Given the description of an element on the screen output the (x, y) to click on. 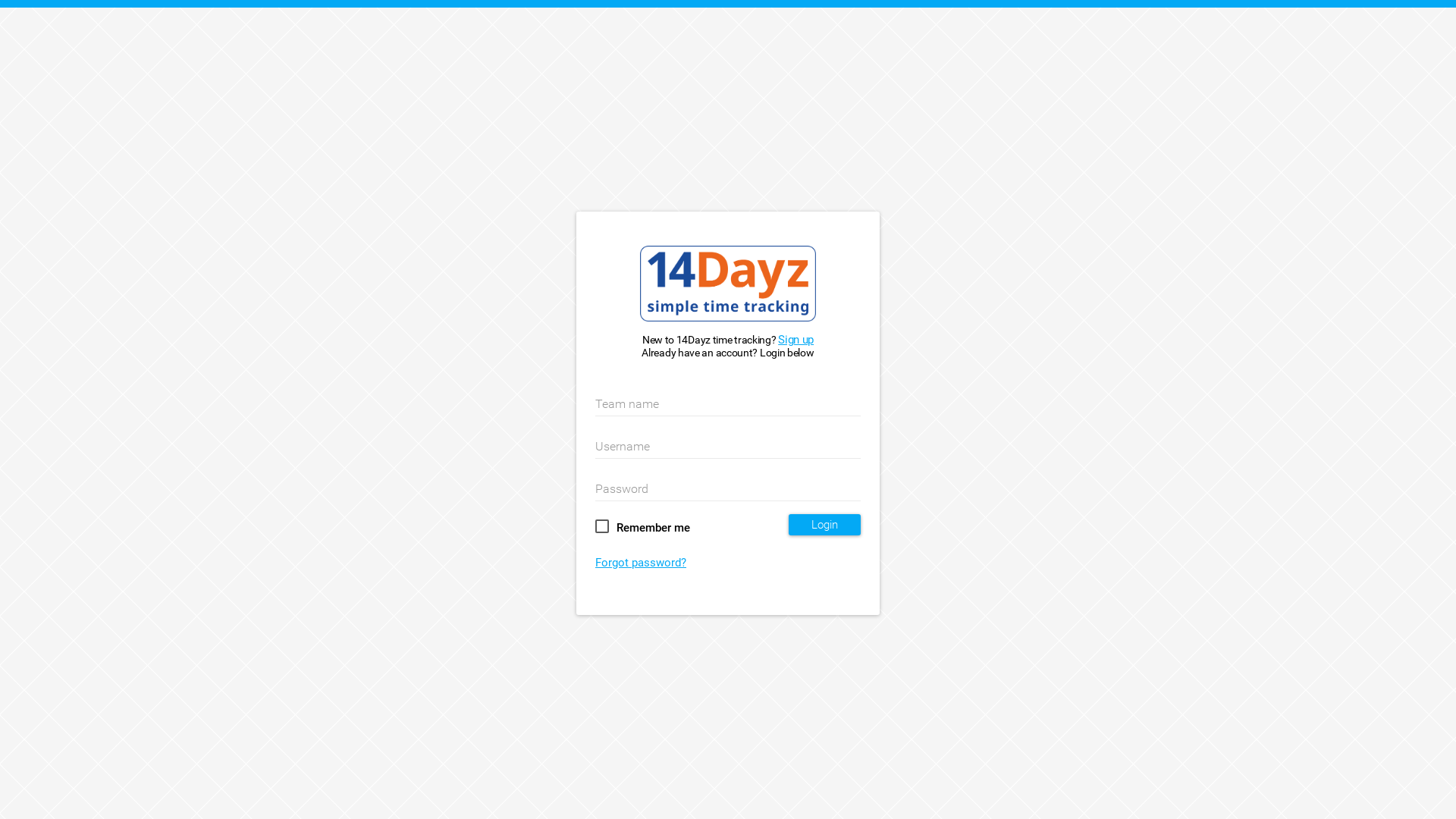
Sign up Element type: text (795, 339)
Forgot password? Element type: text (640, 562)
Login Element type: text (824, 524)
